Given the description of an element on the screen output the (x, y) to click on. 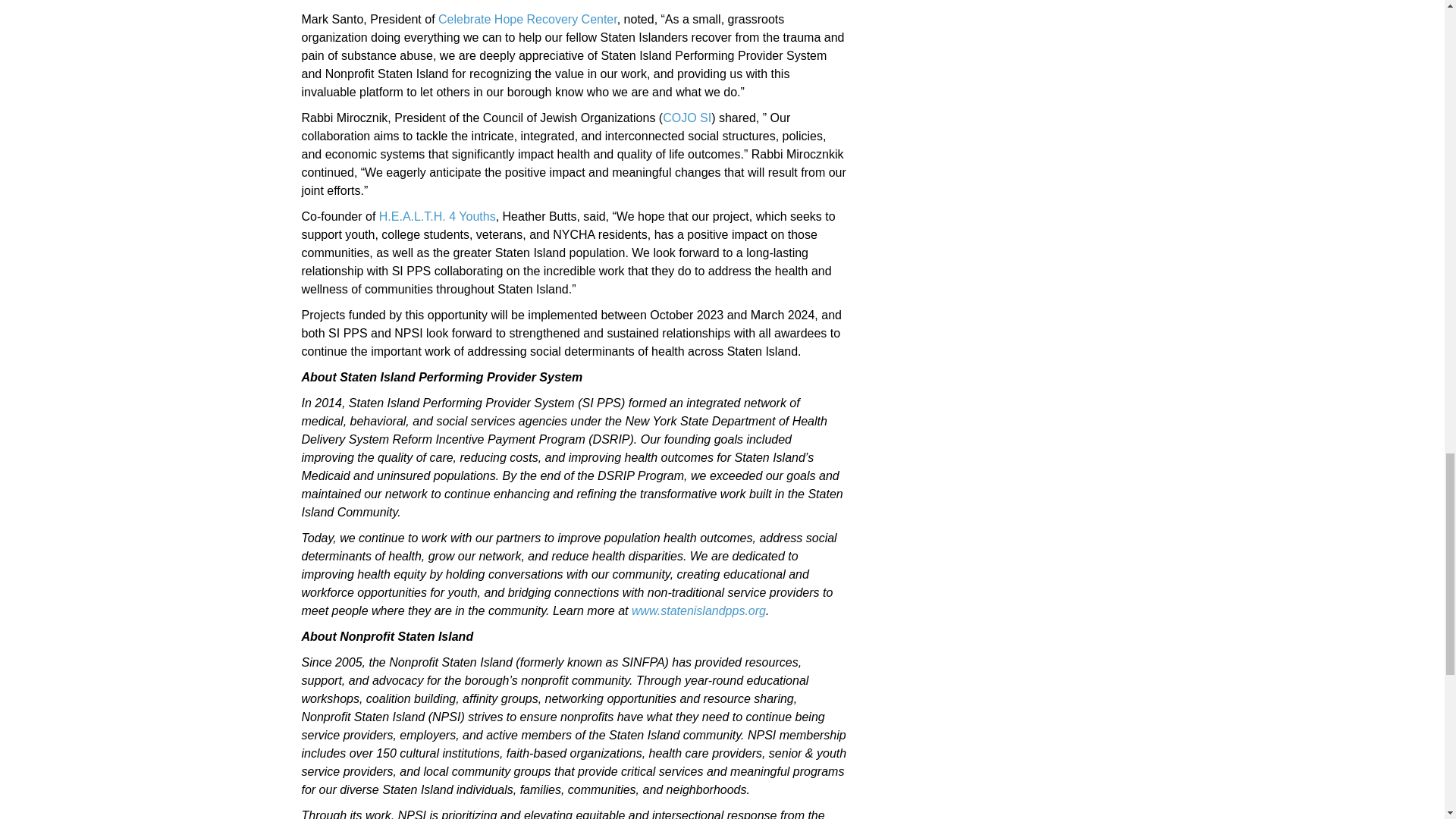
www.statenislandpps.org (698, 610)
H.E.A.L.T.H. 4 Youths (437, 215)
COJO SI (686, 117)
Celebrate Hope Recovery Center (527, 19)
